Given the description of an element on the screen output the (x, y) to click on. 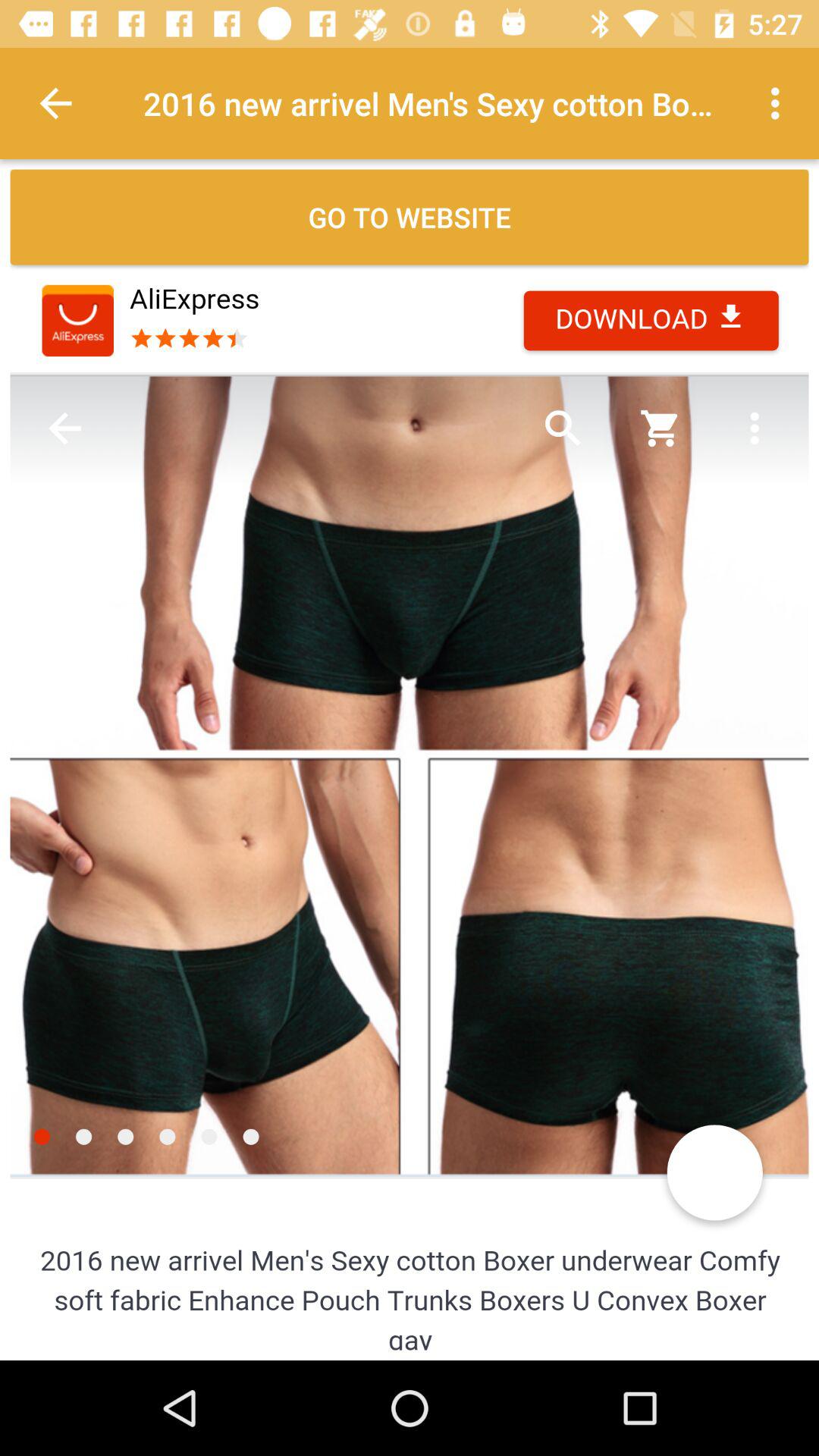
advertisement (409, 809)
